Given the description of an element on the screen output the (x, y) to click on. 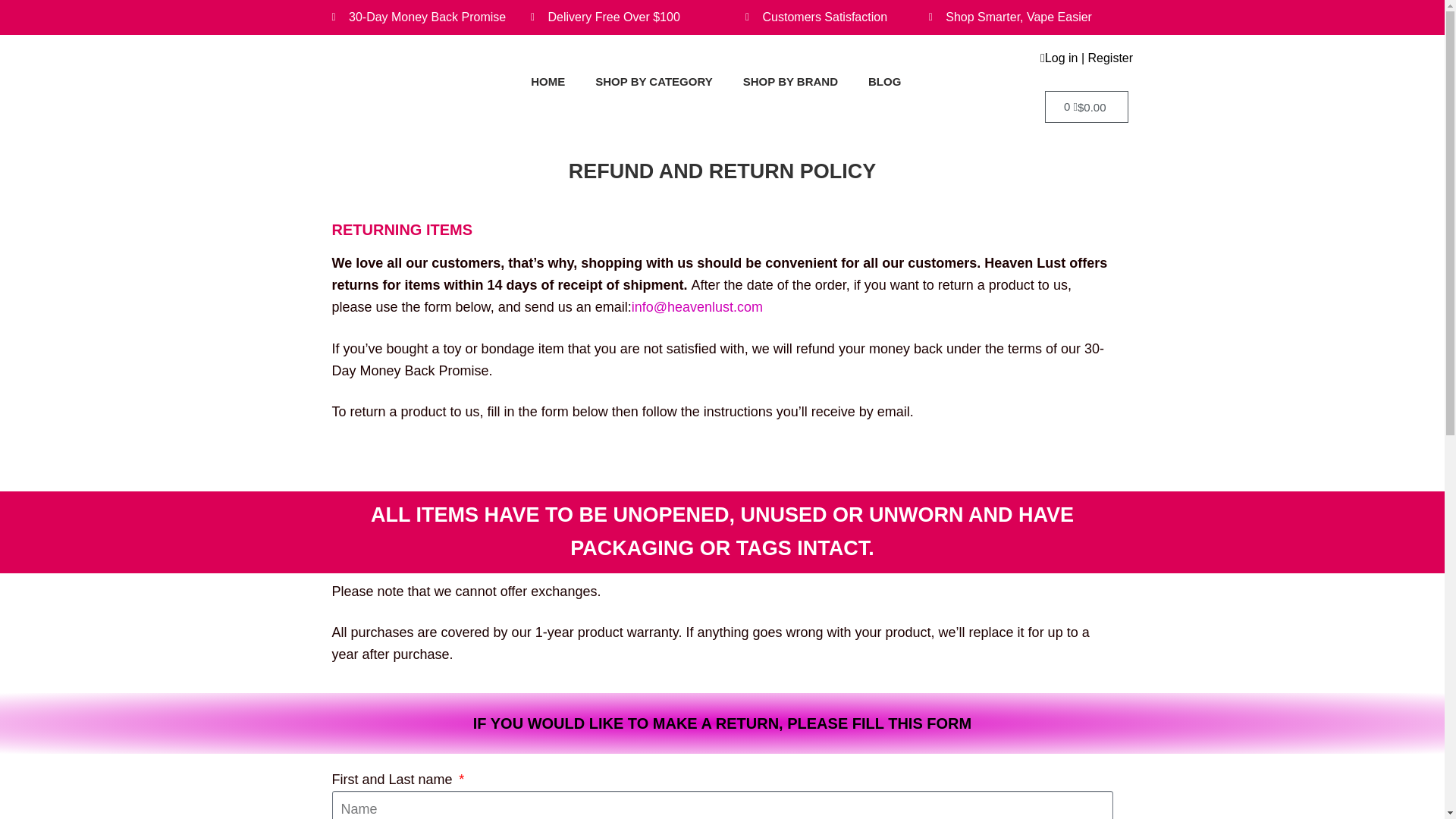
SHOP BY CATEGORY (652, 81)
Heaven Lust (348, 82)
HOME (547, 81)
BLOG (884, 81)
SHOP BY BRAND (790, 81)
